Given the description of an element on the screen output the (x, y) to click on. 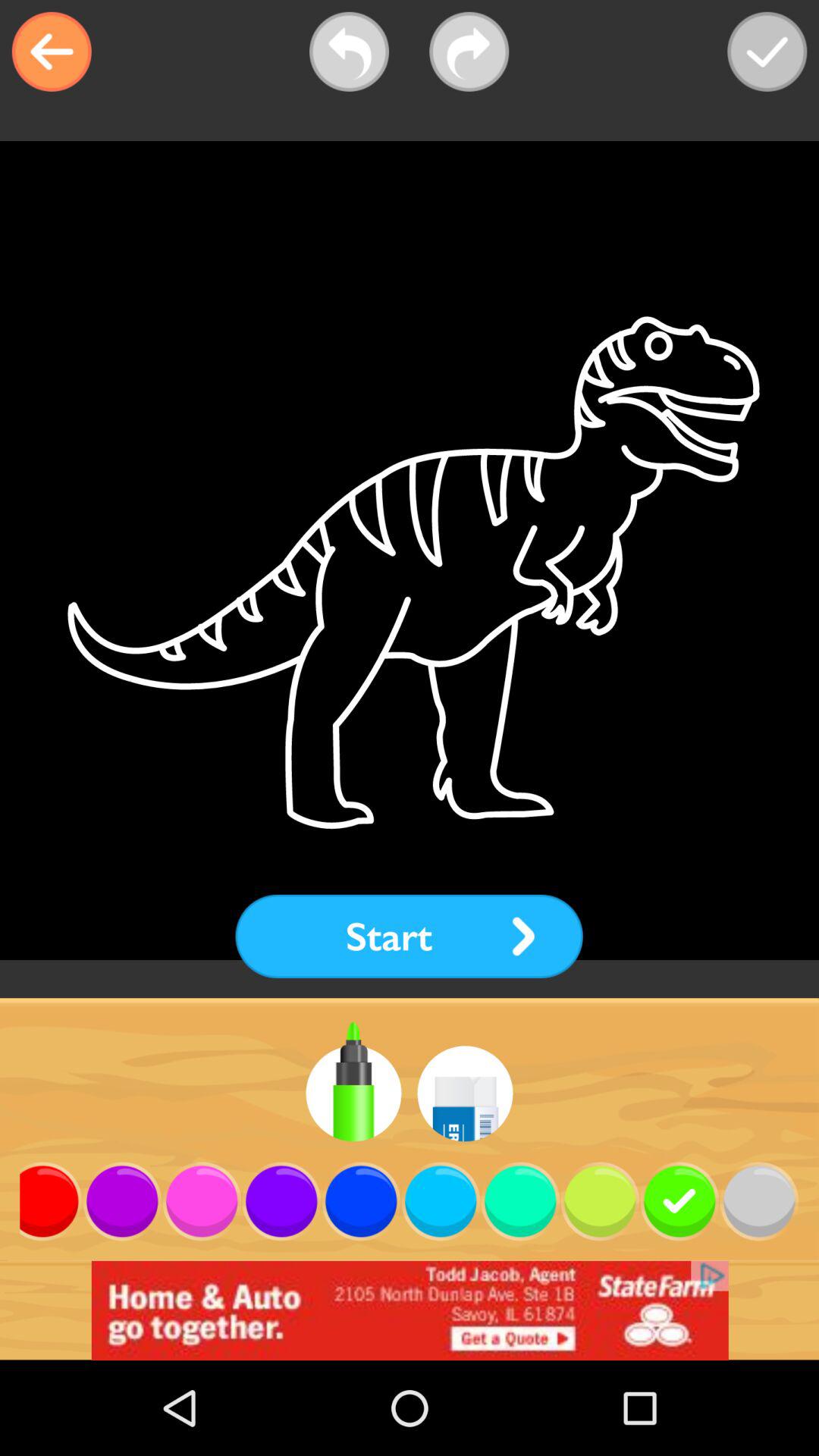
undo last (349, 51)
